Given the description of an element on the screen output the (x, y) to click on. 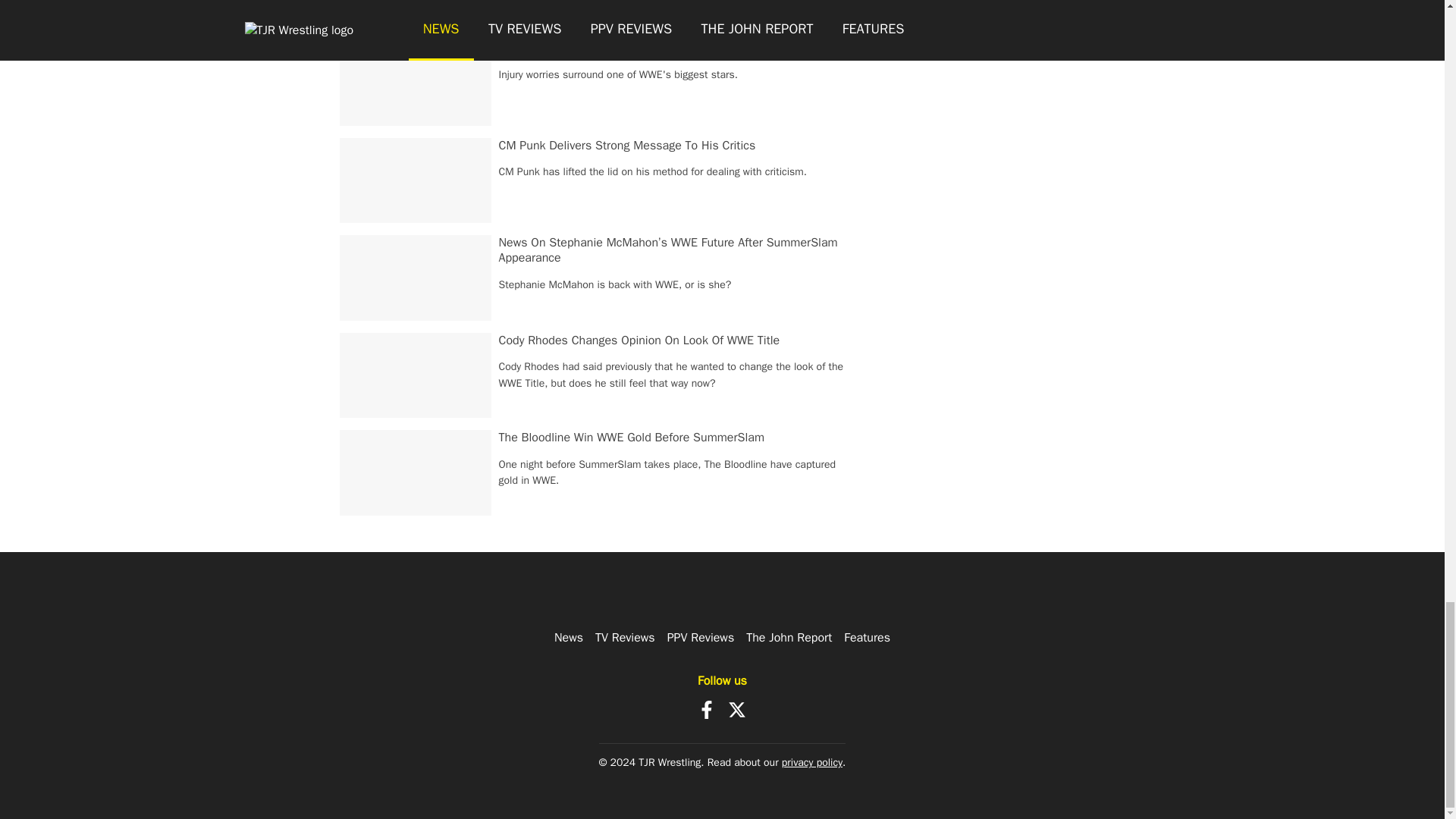
Facebook (706, 710)
CM Punk Delivers Strong Message To His Critics (627, 145)
Major WWE Star In SummerSlam Injury Scare (618, 47)
Cody Rhodes Changes Opinion On Look Of WWE Title (639, 340)
X (736, 710)
